Given the description of an element on the screen output the (x, y) to click on. 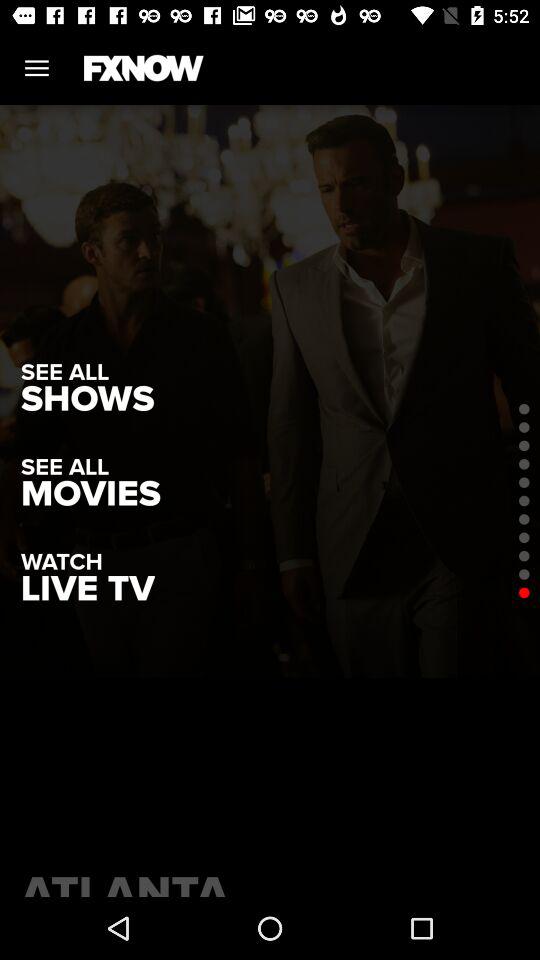
click the icon below the movies icon (87, 588)
